Given the description of an element on the screen output the (x, y) to click on. 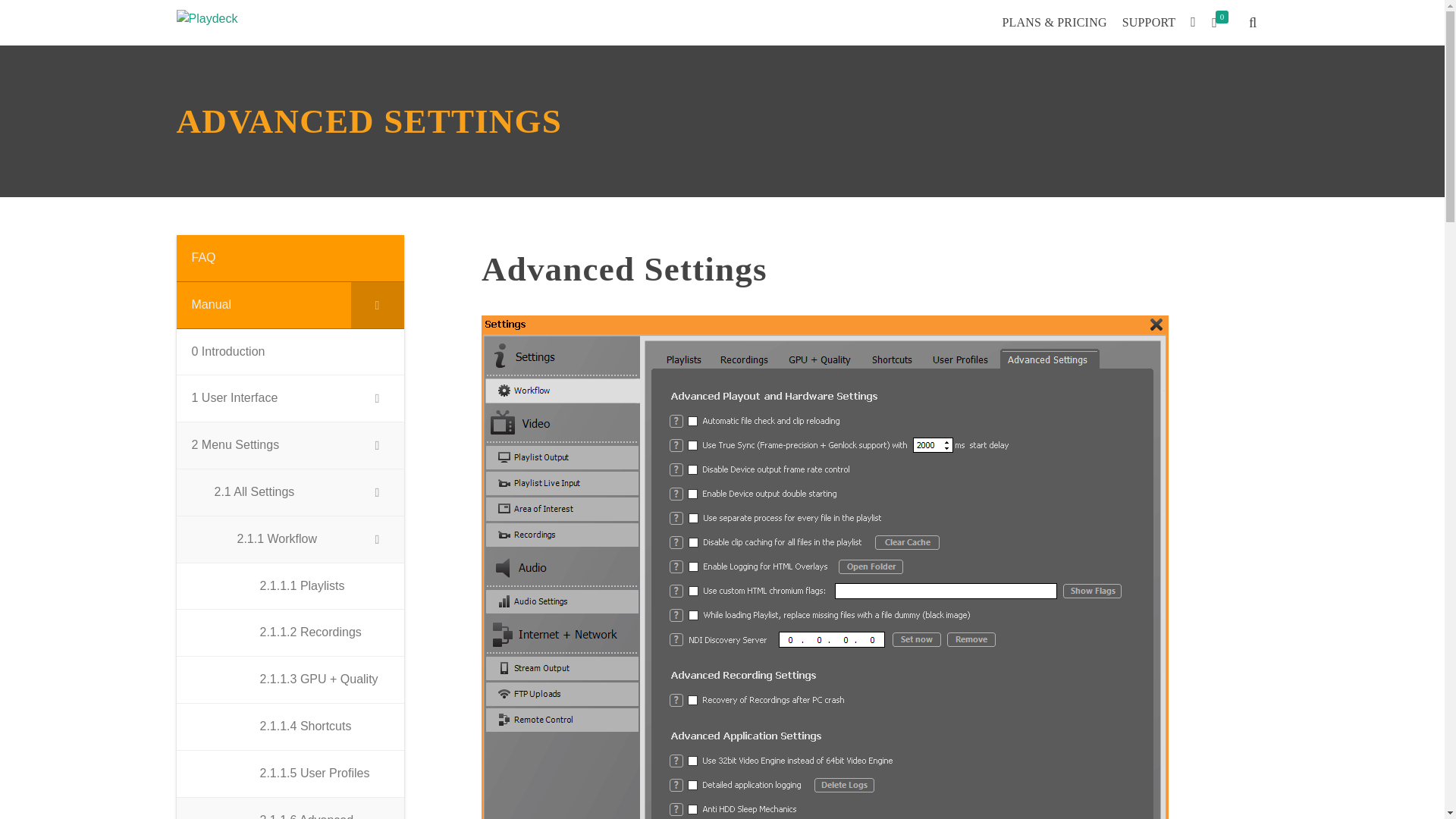
0 Introduction (289, 352)
2.1.1.2 Recordings (289, 632)
2.1.1.6 Advanced Settings (289, 808)
2.1.1.5 User Profiles (289, 774)
Manual (289, 305)
Advanced Settings (874, 269)
2.1.1 Workflow (289, 539)
2.1.1.4 Shortcuts (289, 727)
SUPPORT (1149, 22)
FAQ (289, 258)
